Given the description of an element on the screen output the (x, y) to click on. 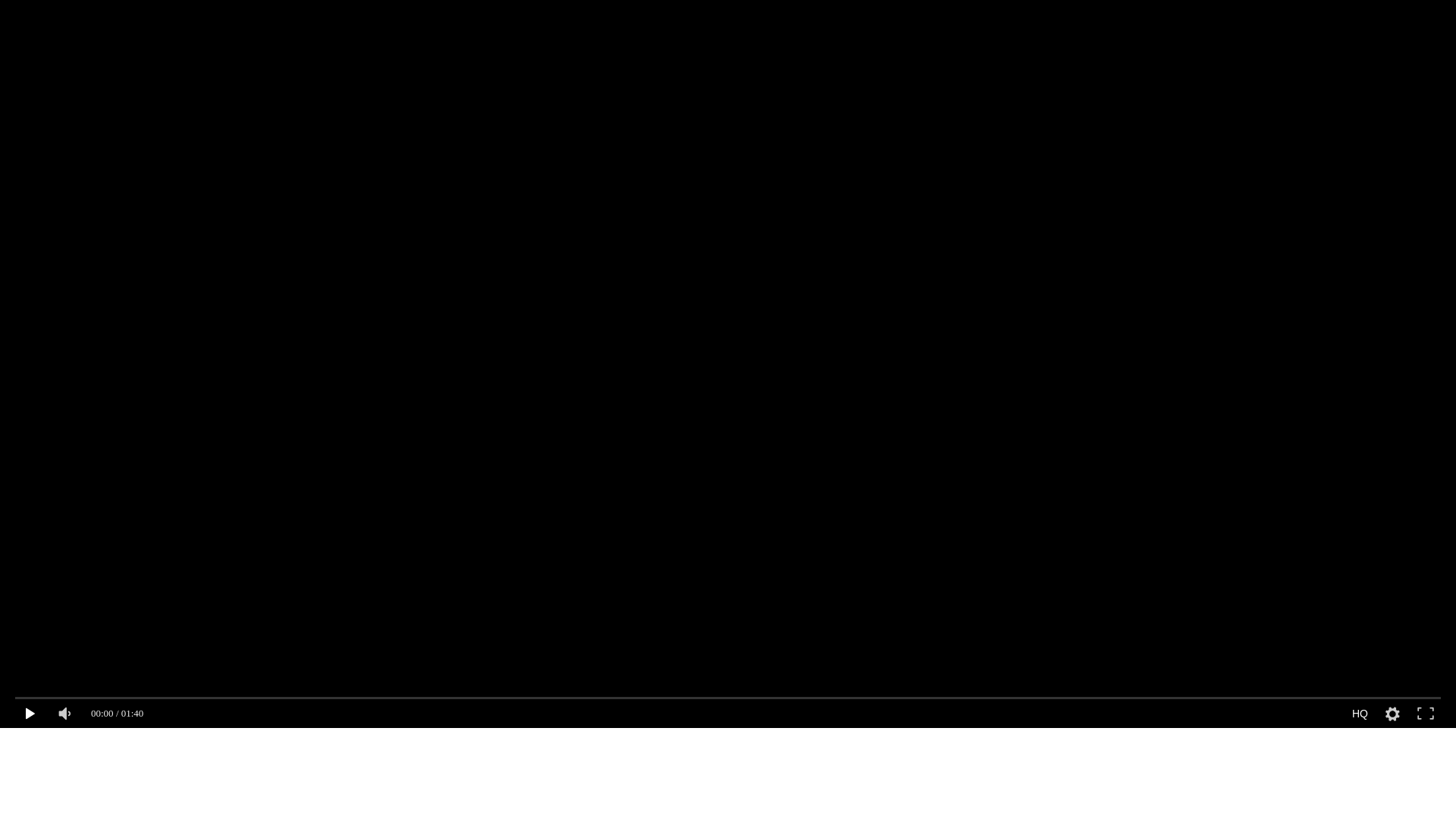
HQ Element type: text (1360, 713)
